Given the description of an element on the screen output the (x, y) to click on. 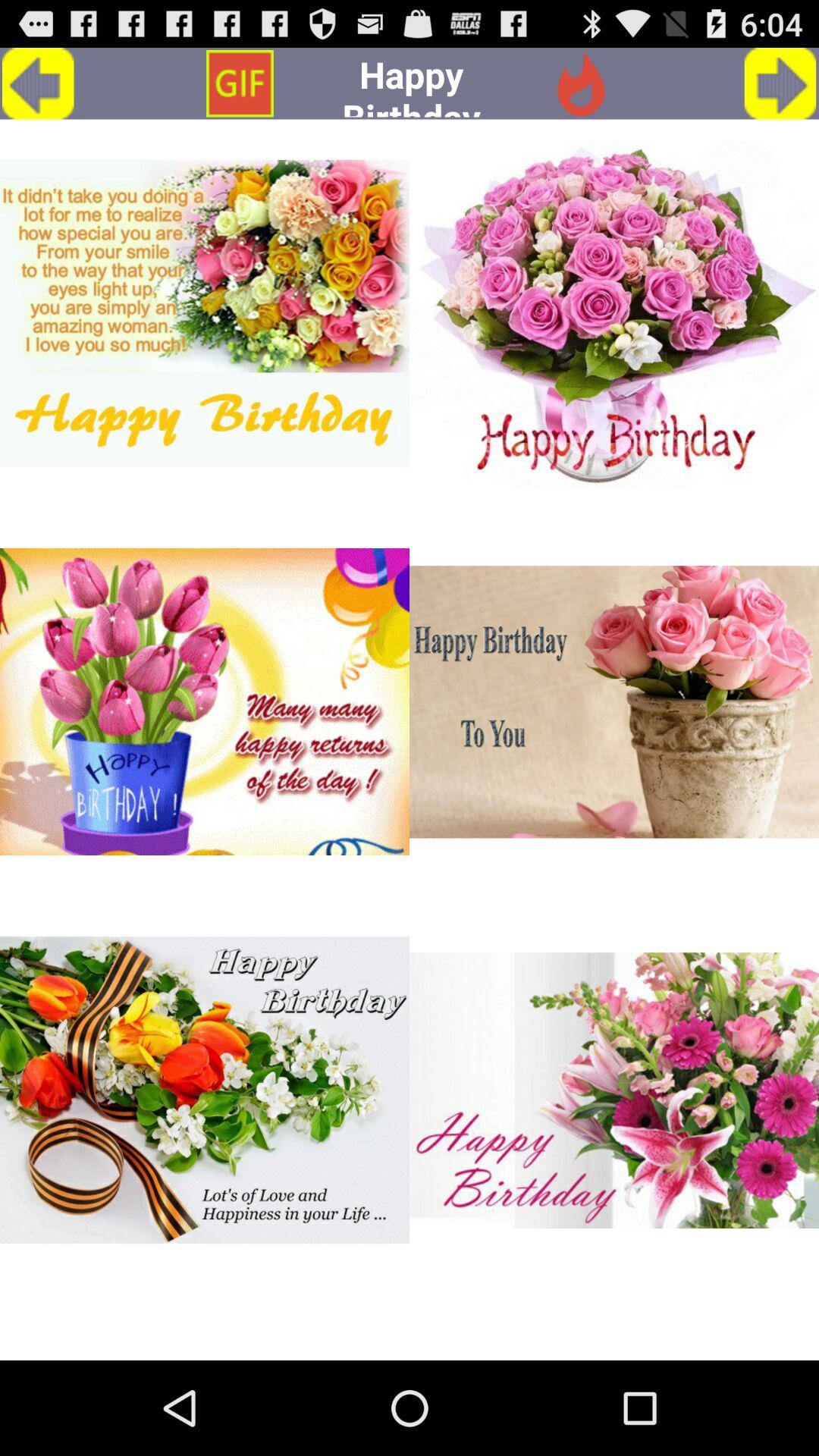
a happy birhday picture (204, 1090)
